Given the description of an element on the screen output the (x, y) to click on. 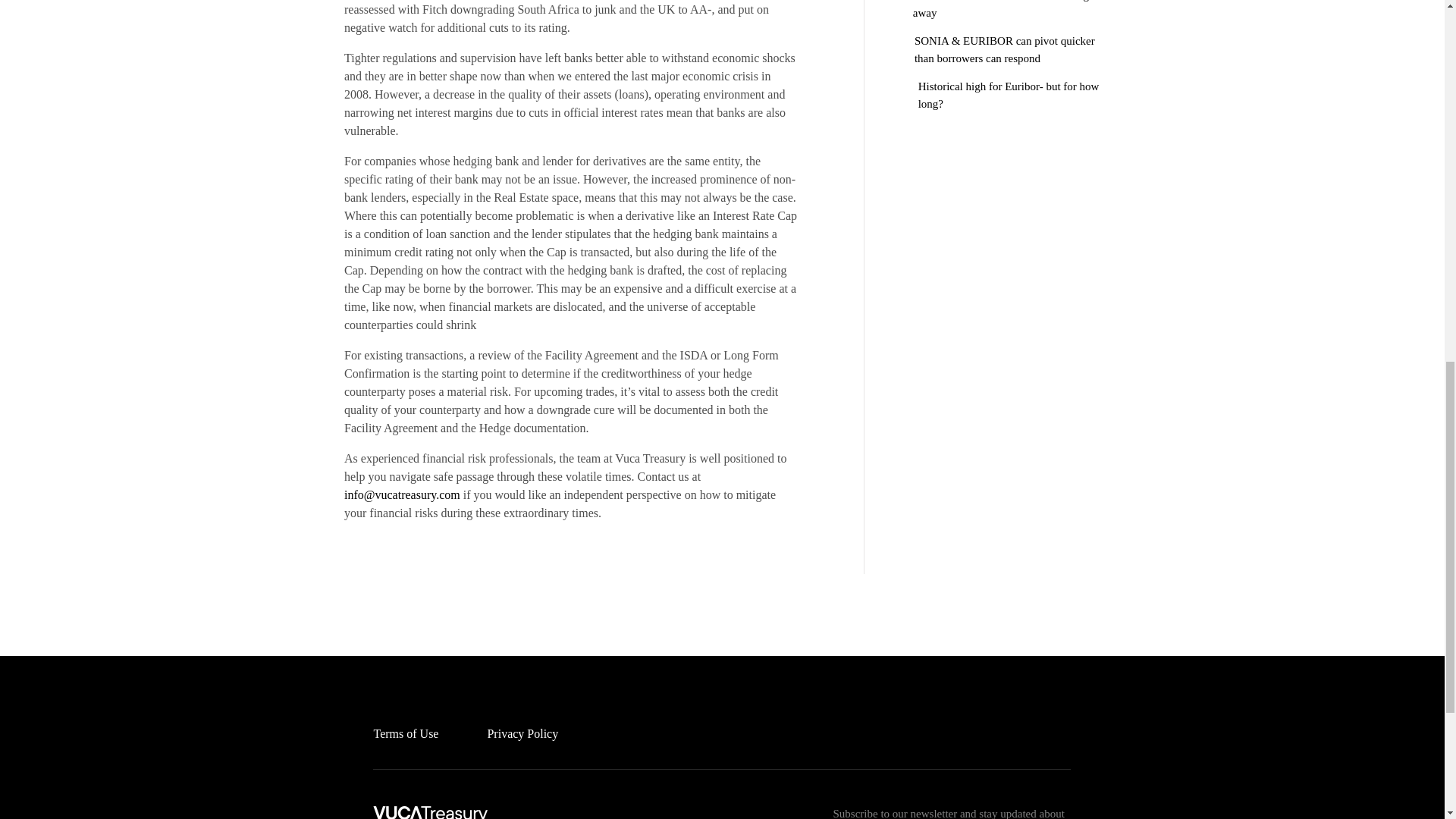
Historical high for Euribor- but for how long? (1001, 94)
Terms of Use (405, 733)
Historical high for Euribor- but for how long? (1001, 94)
Privacy Policy (521, 733)
